Given the description of an element on the screen output the (x, y) to click on. 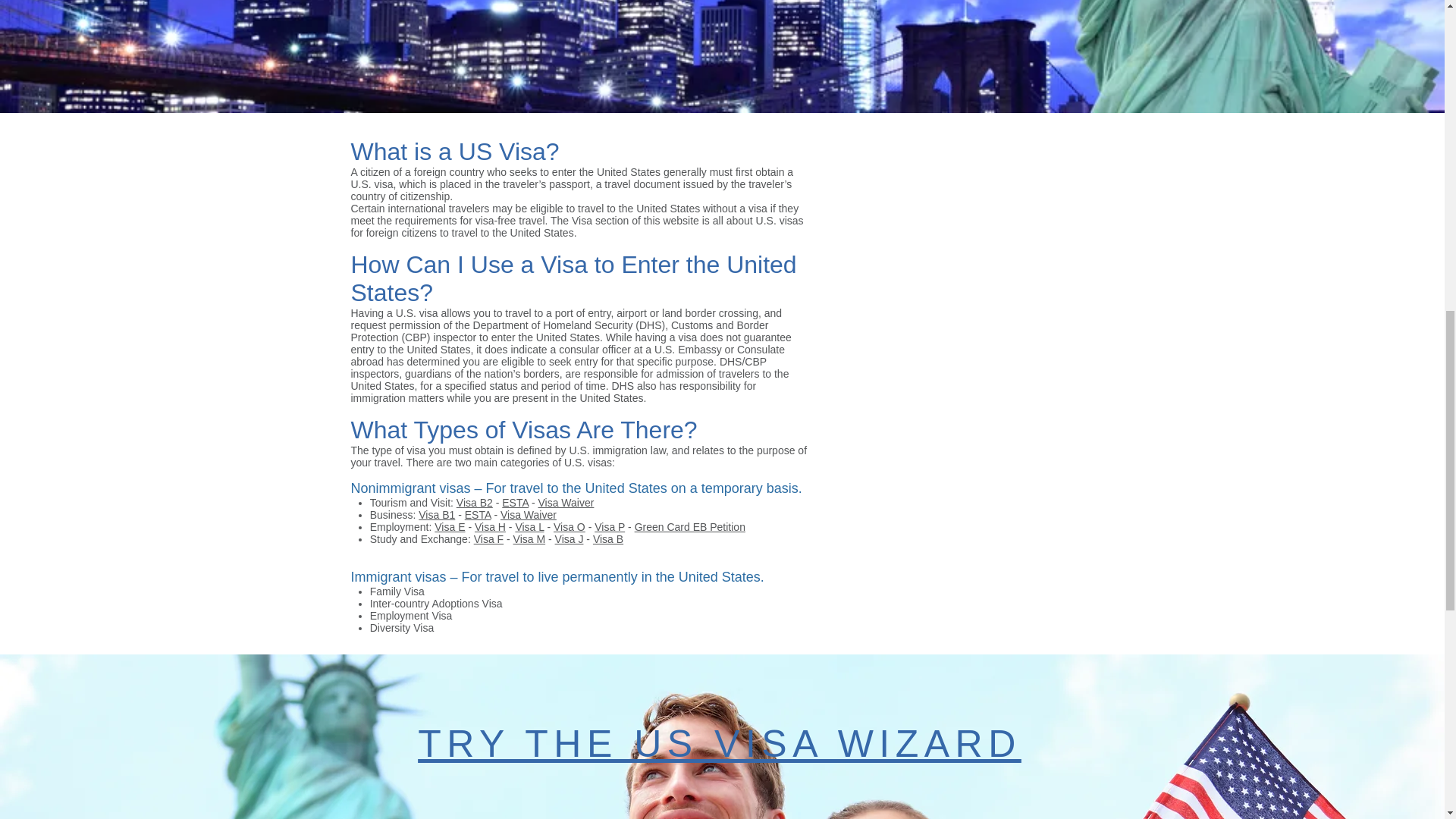
Visa E (448, 526)
Visa Waiver (565, 502)
Visa B1 (436, 514)
Visa Waiver (528, 514)
ESTA (515, 502)
ESTA (478, 514)
Visa B2 (475, 502)
